Given the description of an element on the screen output the (x, y) to click on. 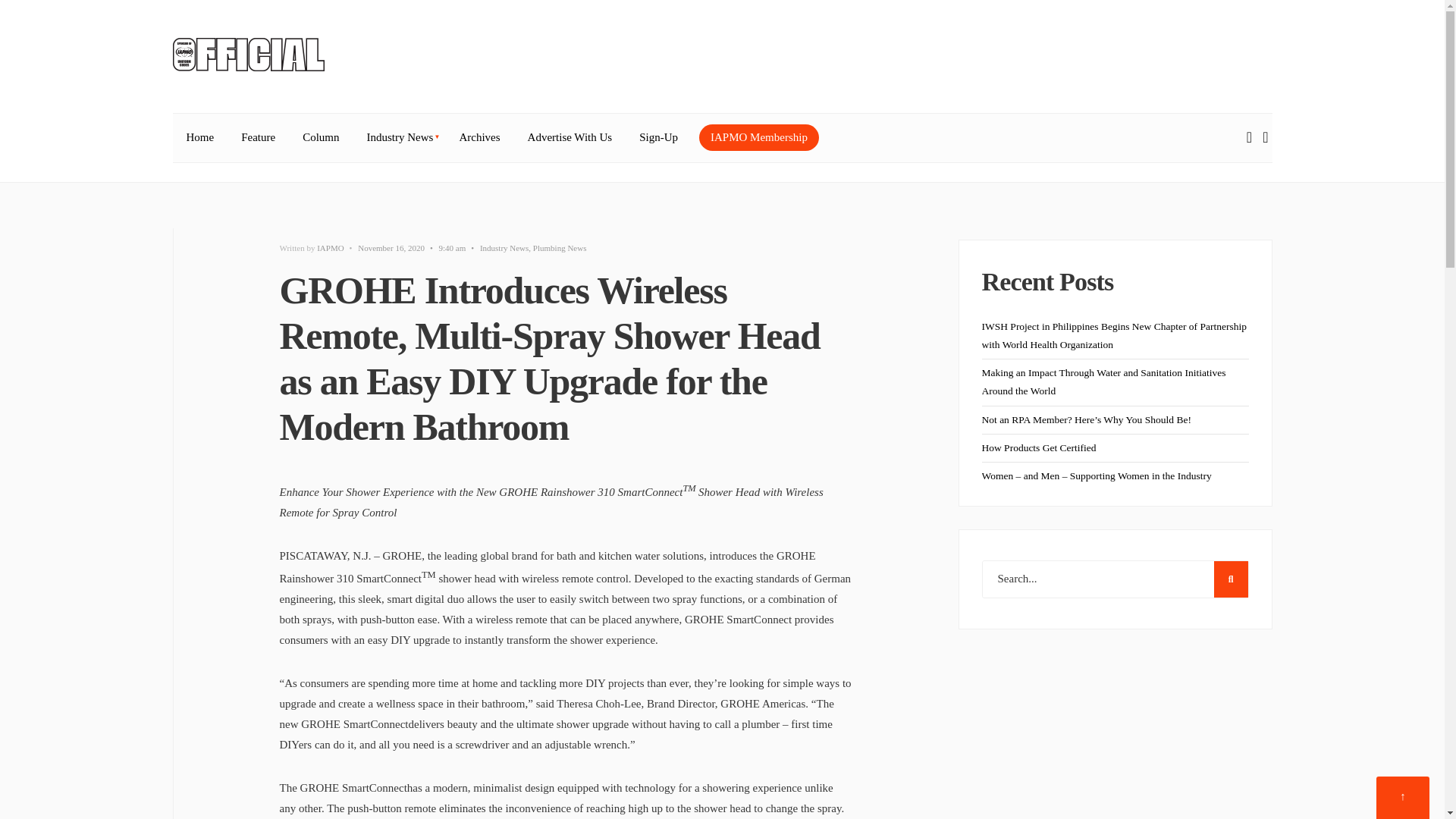
IAPMO (330, 247)
Industry News (399, 137)
Industry News (504, 247)
How Products Get Certified (1038, 447)
Sign-Up (658, 137)
Column (320, 137)
Scroll to top (1402, 797)
Archives (479, 137)
IAPMO Membership (758, 137)
